Given the description of an element on the screen output the (x, y) to click on. 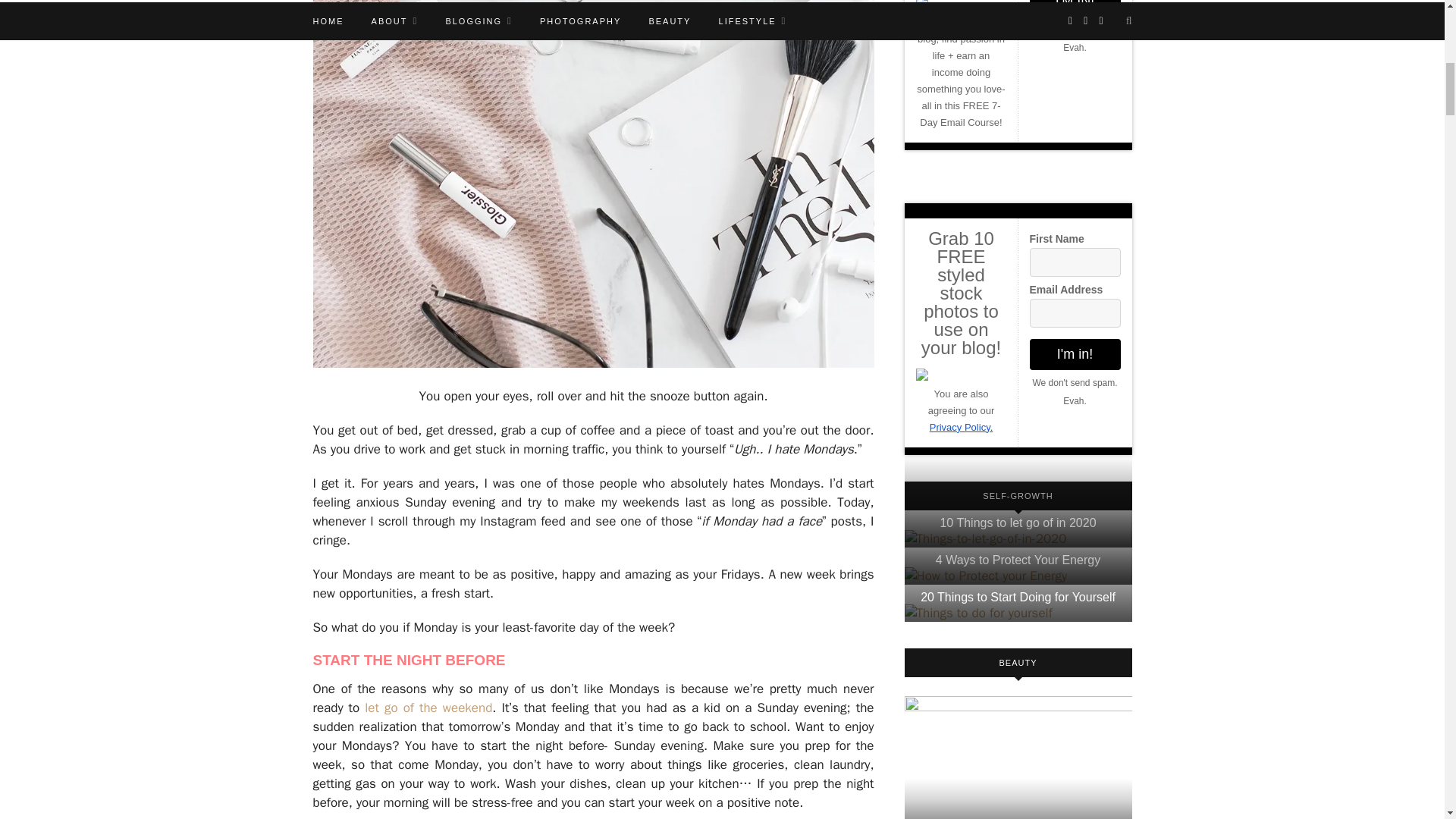
let go of the weekend (428, 707)
